Given the description of an element on the screen output the (x, y) to click on. 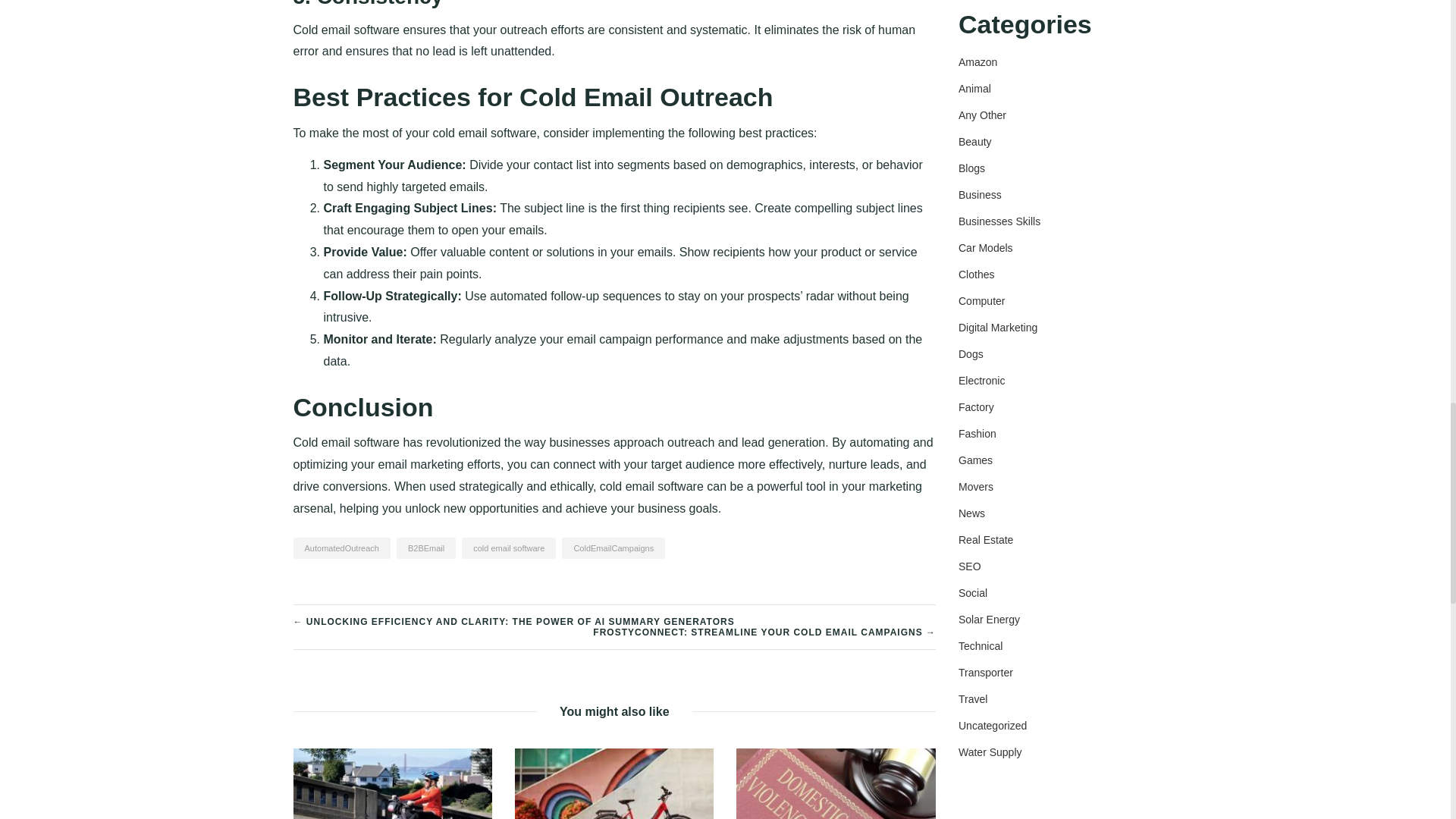
B2BEmail (425, 547)
AutomatedOutreach (341, 547)
Best Getest: De Beste Keukenapparatuur (614, 808)
cold email software (508, 547)
ColdEmailCampaigns (613, 547)
